Given the description of an element on the screen output the (x, y) to click on. 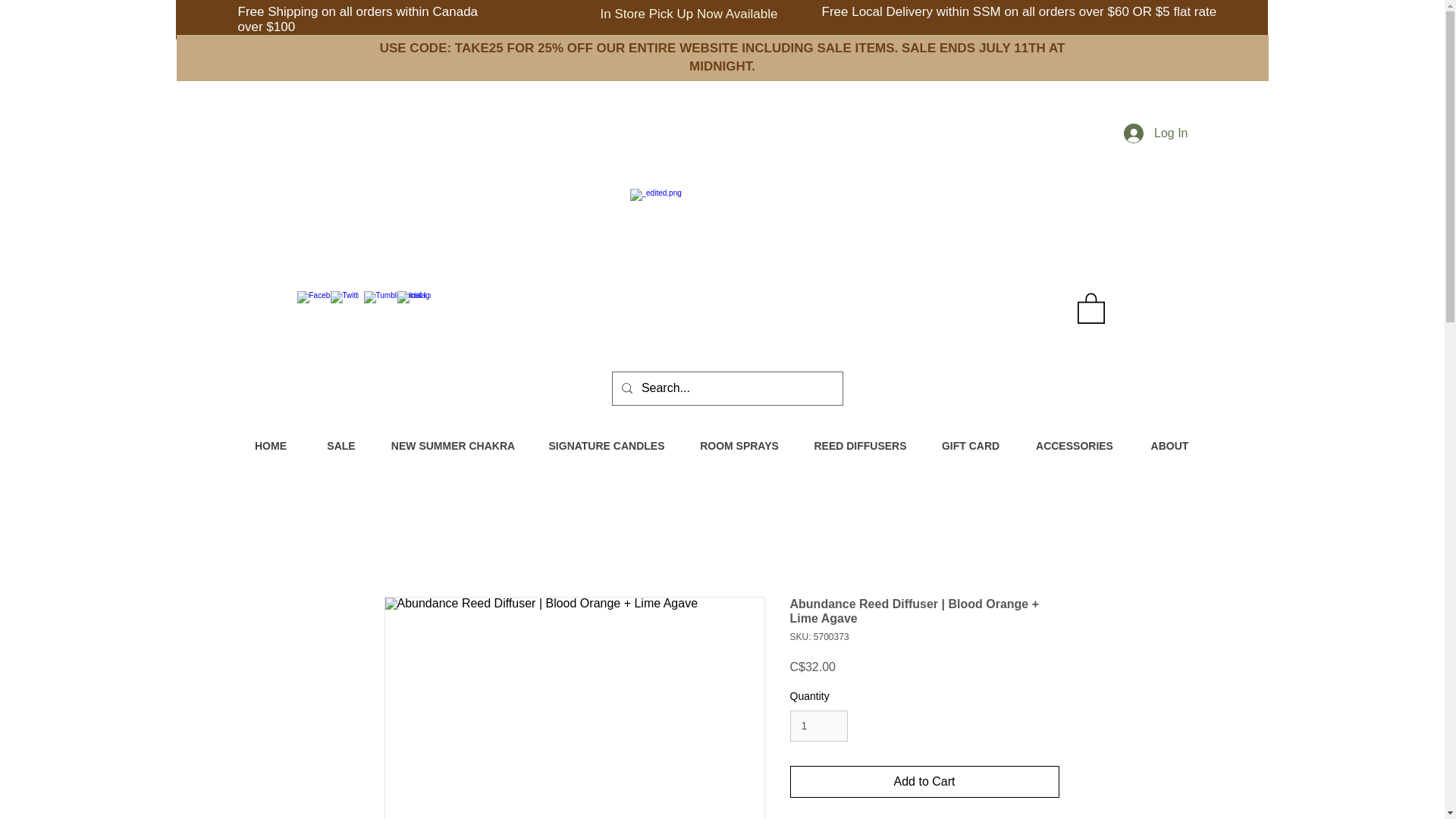
GIFT CARD (970, 445)
1 (818, 726)
NEW SUMMER CHAKRA (453, 445)
ROOM SPRAYS (738, 445)
ACCESSORIES (1074, 445)
REED DIFFUSERS (860, 445)
ABOUT (1169, 445)
SIGNATURE CANDLES (606, 445)
HOME (270, 445)
SALE (340, 445)
